Given the description of an element on the screen output the (x, y) to click on. 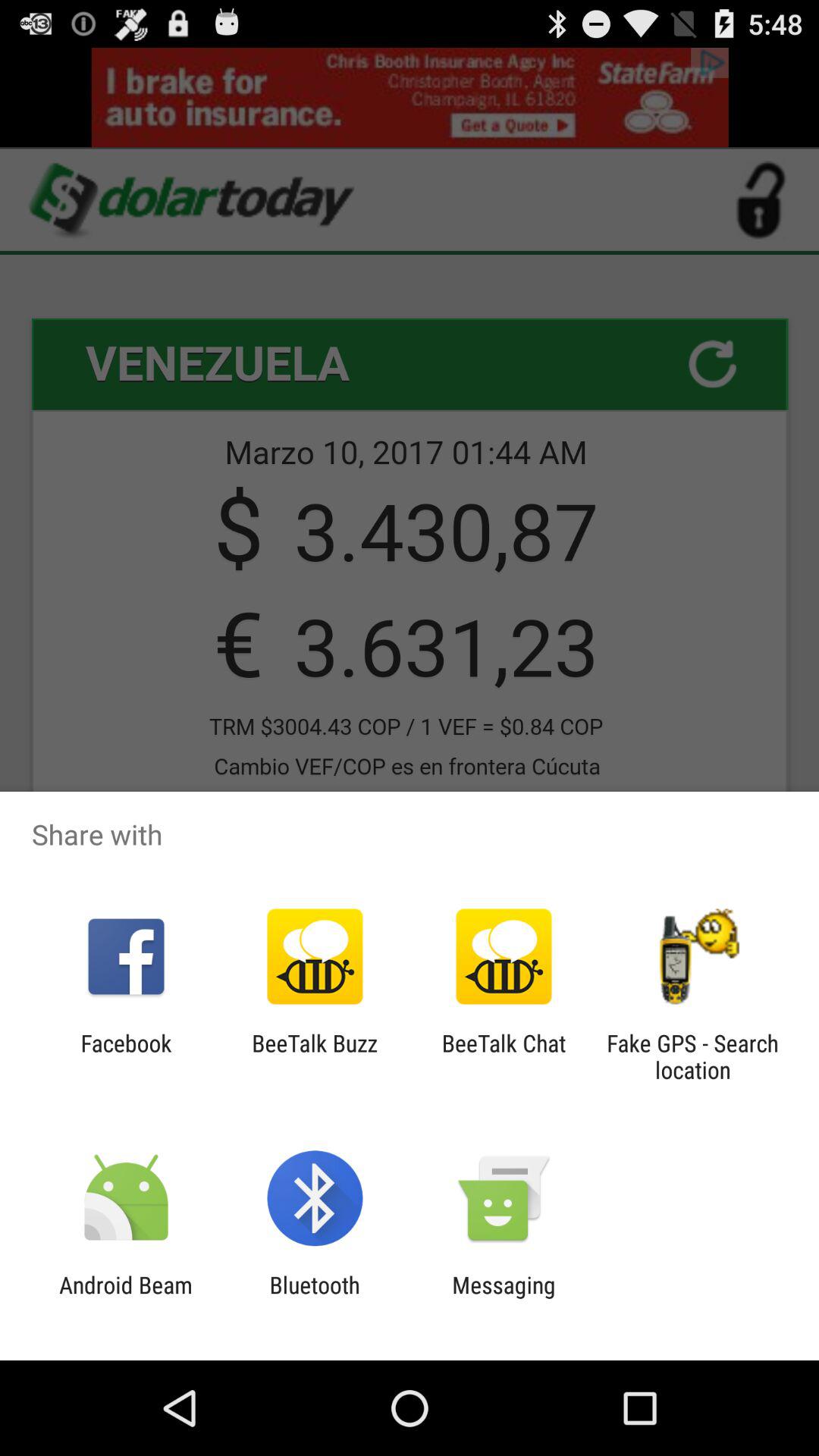
swipe until beetalk buzz icon (314, 1056)
